Given the description of an element on the screen output the (x, y) to click on. 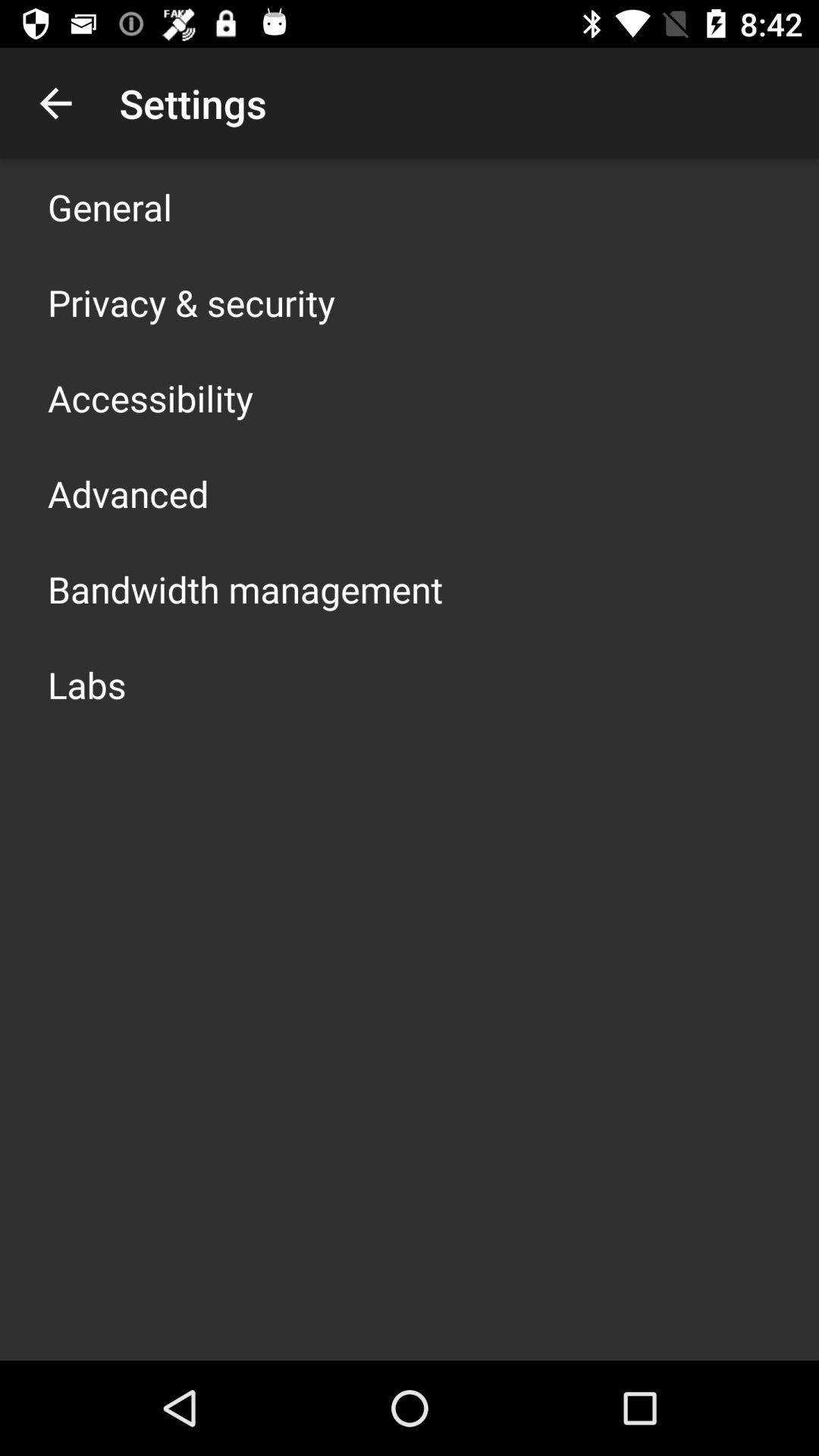
click the icon to the left of the settings app (55, 103)
